Given the description of an element on the screen output the (x, y) to click on. 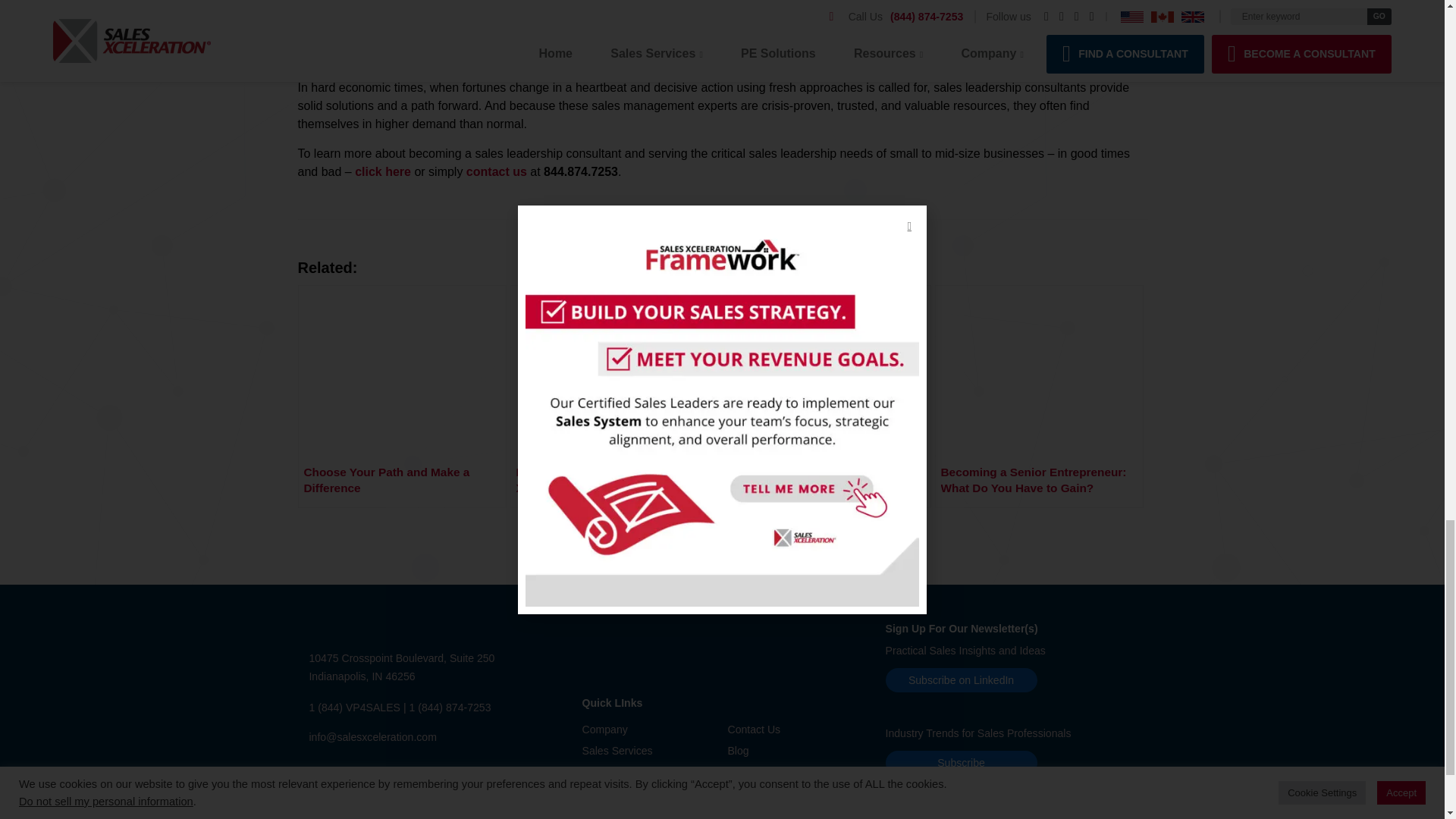
Becoming a Senior Entrepreneur: What Do You Have to Gain? (1038, 396)
Choose Your Path and Make a Difference (401, 396)
